Given the description of an element on the screen output the (x, y) to click on. 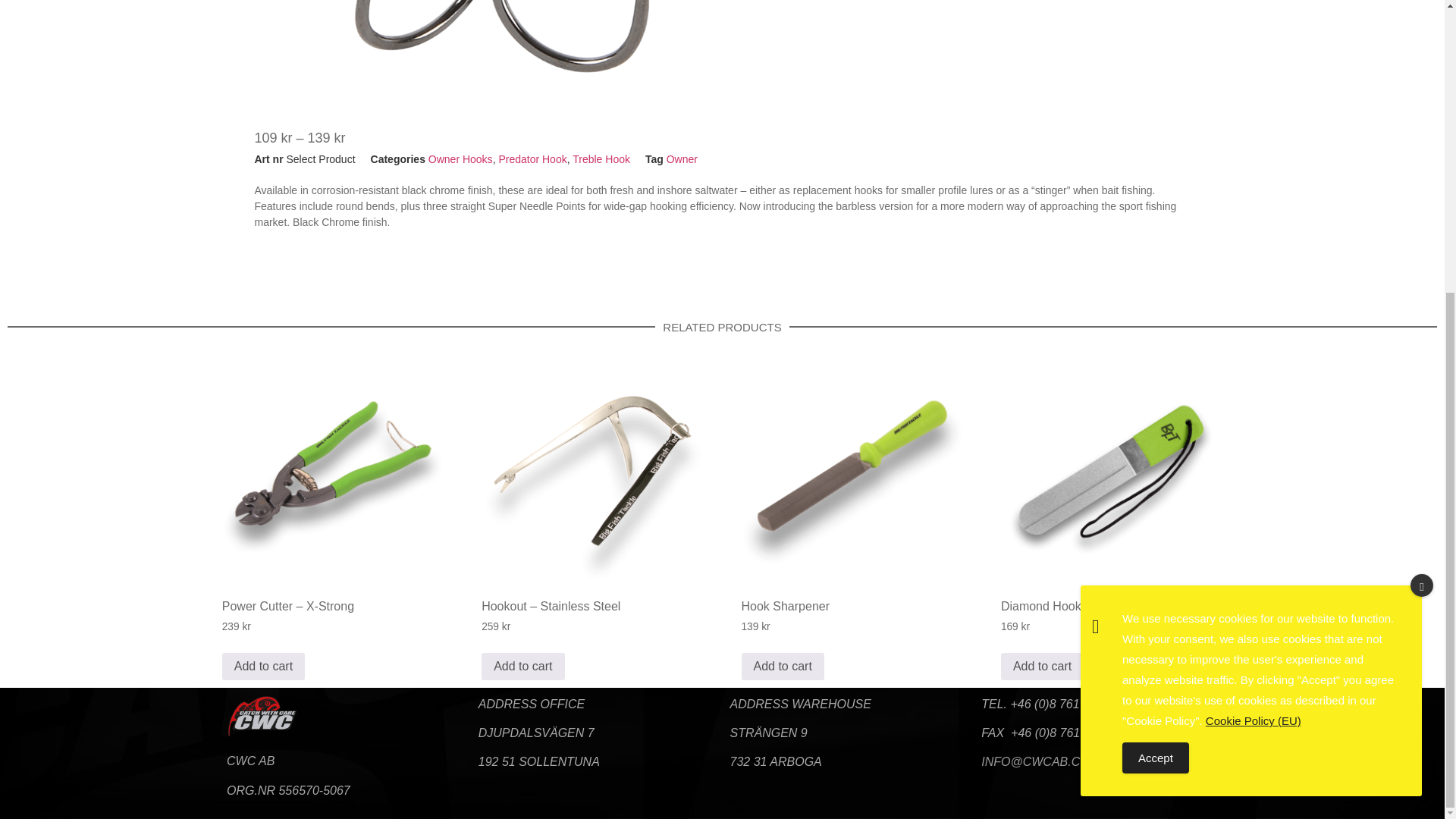
44-5636BL-800x800 (504, 44)
